Given the description of an element on the screen output the (x, y) to click on. 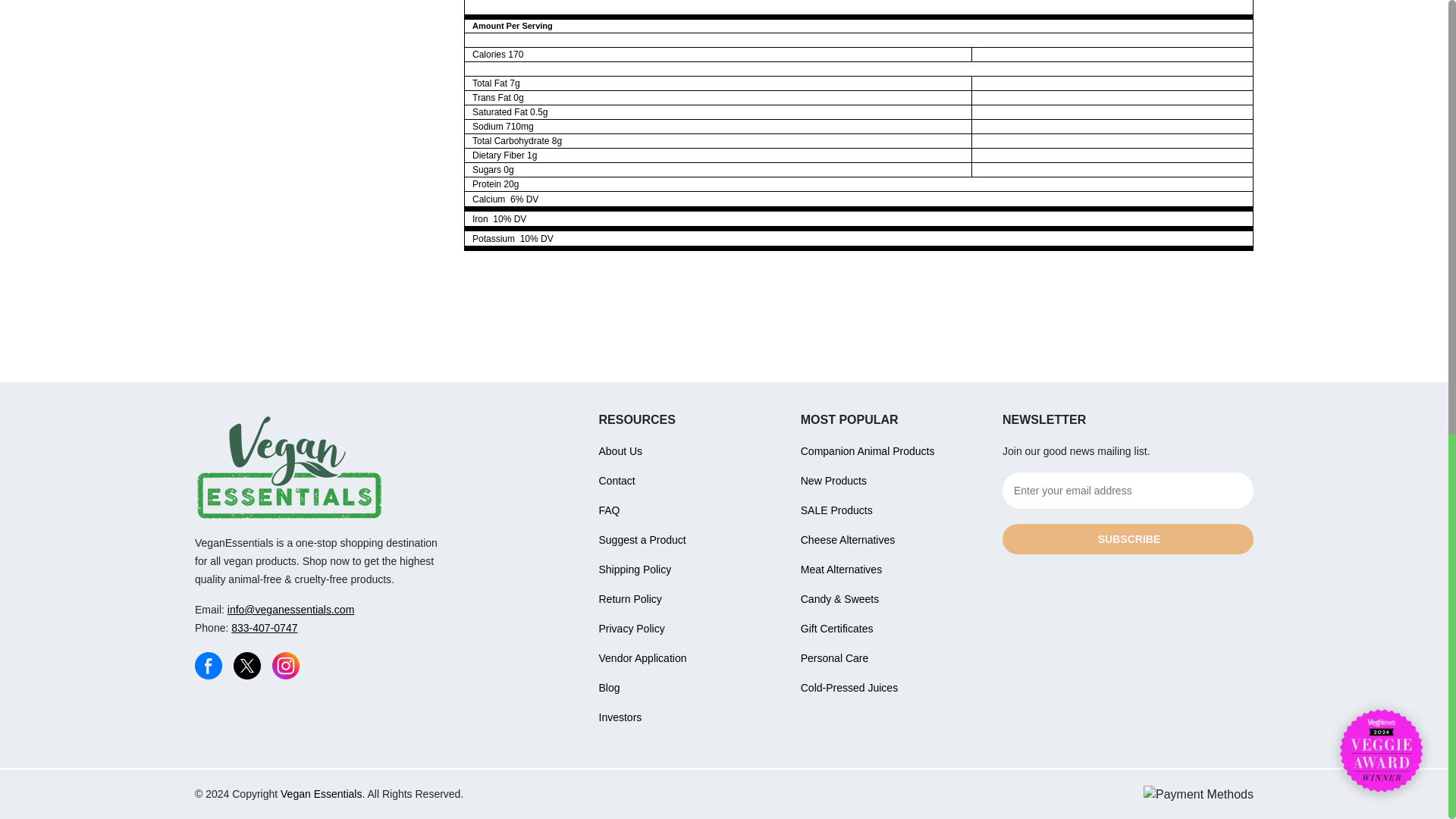
SUBSCRIBE (1128, 539)
